Given the description of an element on the screen output the (x, y) to click on. 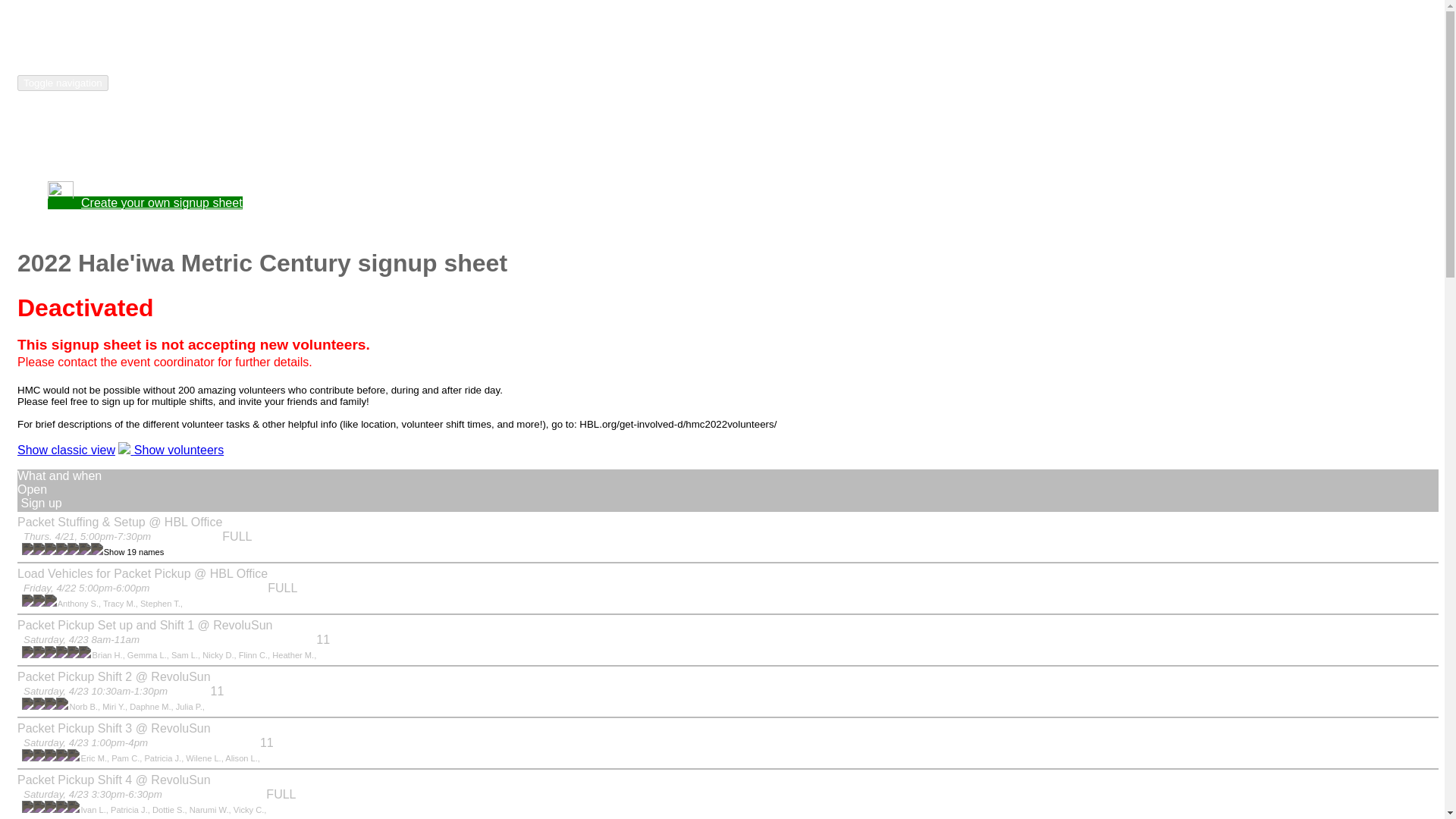
Create your own signup sheet (145, 202)
Show 19 names (133, 551)
Show classic view (66, 449)
Show volunteers (170, 449)
Toggle navigation (62, 82)
